Given the description of an element on the screen output the (x, y) to click on. 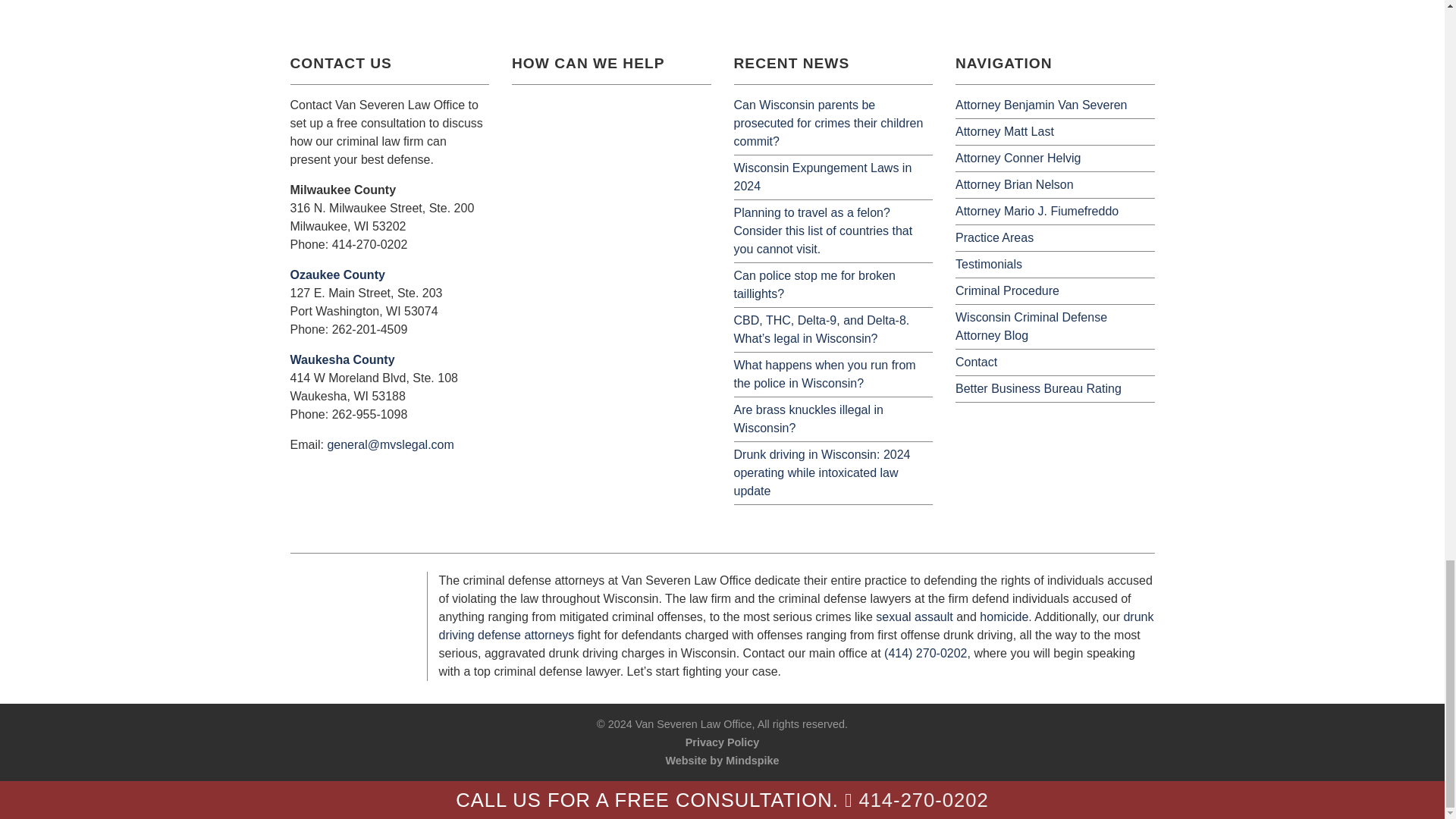
Permanent Link to Wisconsin Expungement Laws in 2024 (822, 176)
Permanent Link to Can police stop me for broken taillights? (814, 284)
